Given the description of an element on the screen output the (x, y) to click on. 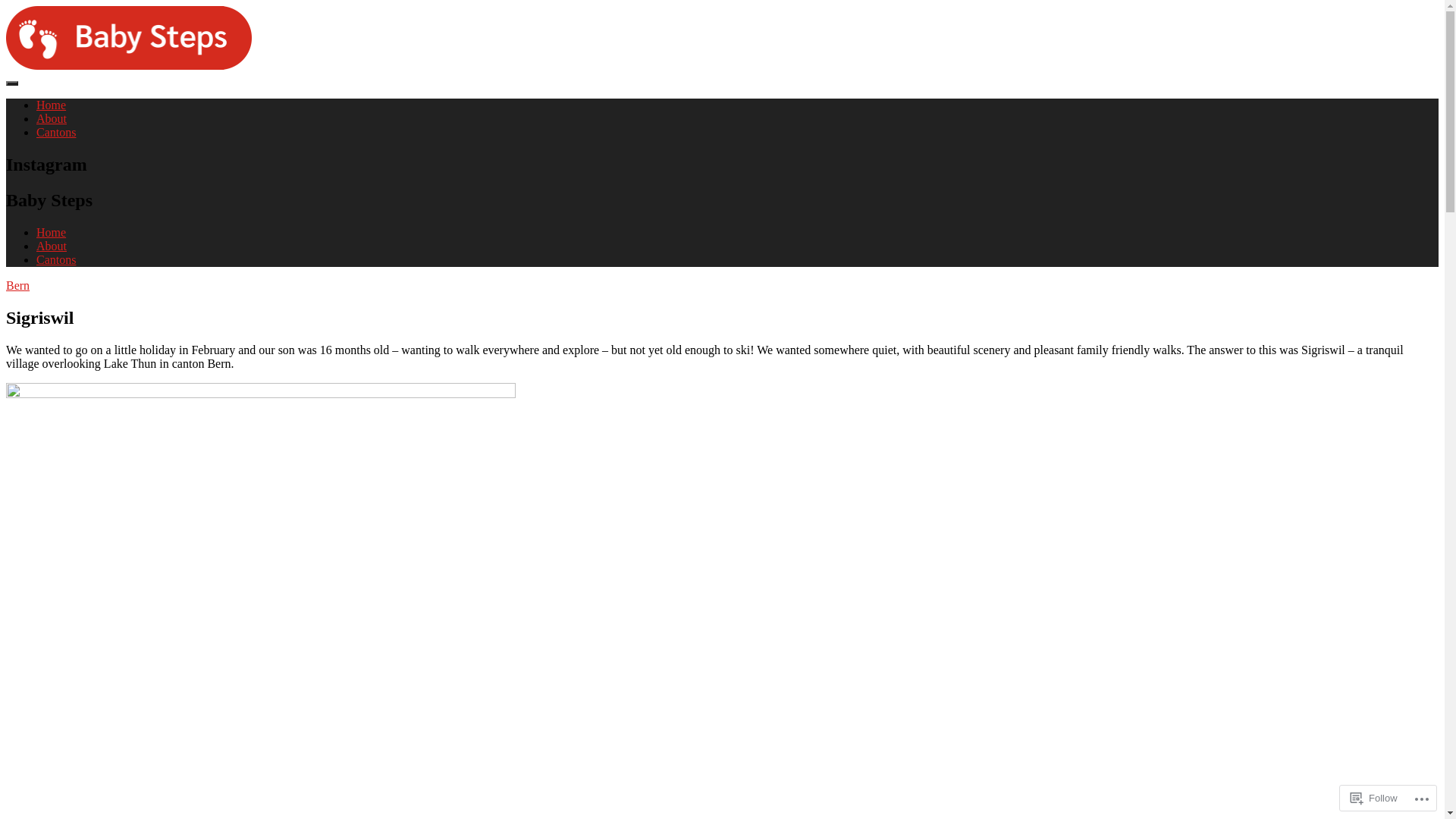
About Element type: text (51, 118)
Cantons Element type: text (55, 259)
Home Element type: text (50, 231)
About Element type: text (51, 245)
Baby Steps Element type: text (33, 90)
Home Element type: text (50, 104)
Bern Element type: text (17, 285)
Follow Element type: text (1373, 797)
Cantons Element type: text (55, 131)
